Given the description of an element on the screen output the (x, y) to click on. 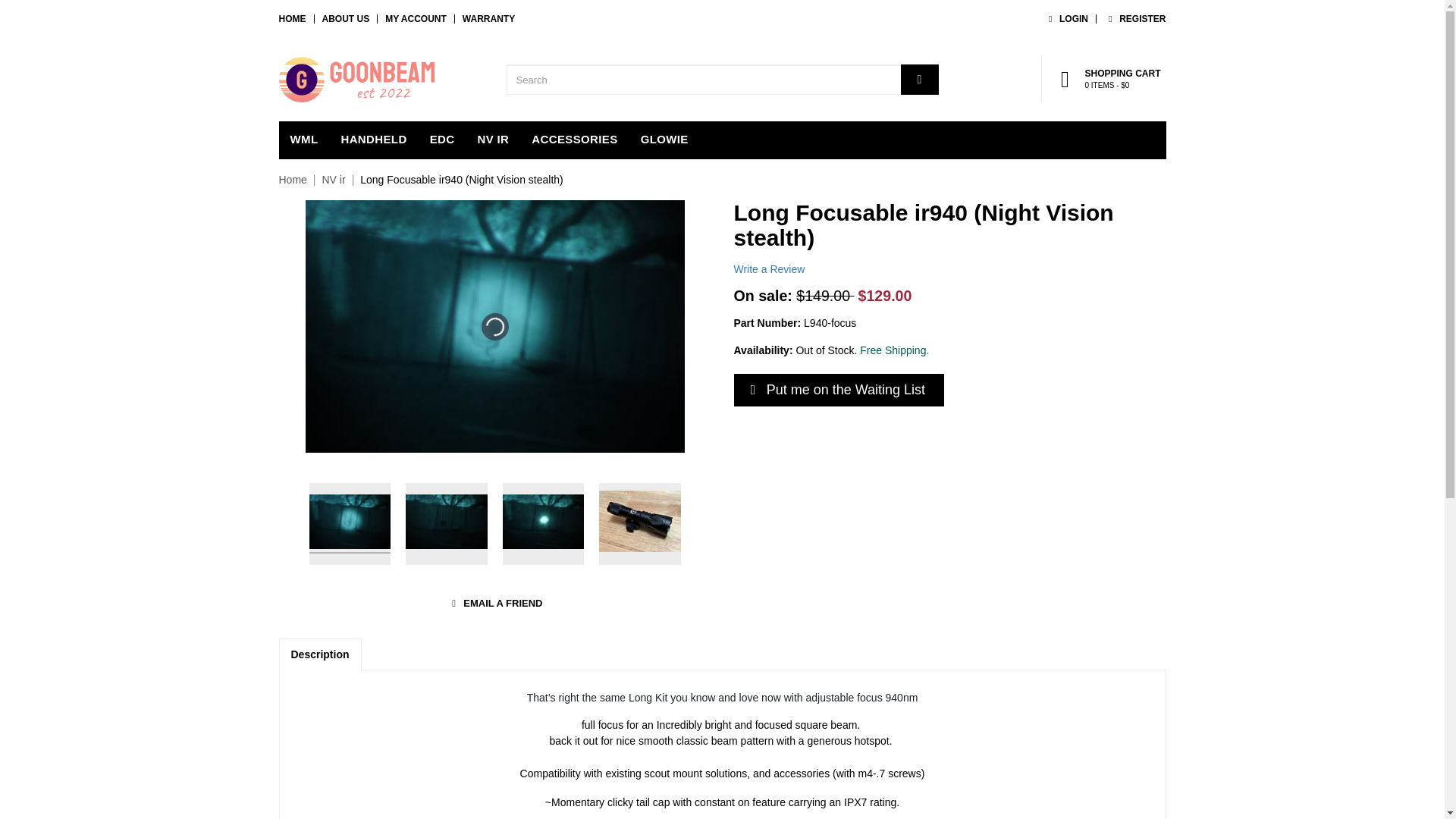
WML (304, 139)
Thumbnail (349, 524)
HOME (292, 18)
MY ACCOUNT (415, 18)
Thumbnail (446, 524)
HANDHELD (373, 139)
EMAIL A FRIEND (494, 603)
Thumbnail (639, 524)
